Given the description of an element on the screen output the (x, y) to click on. 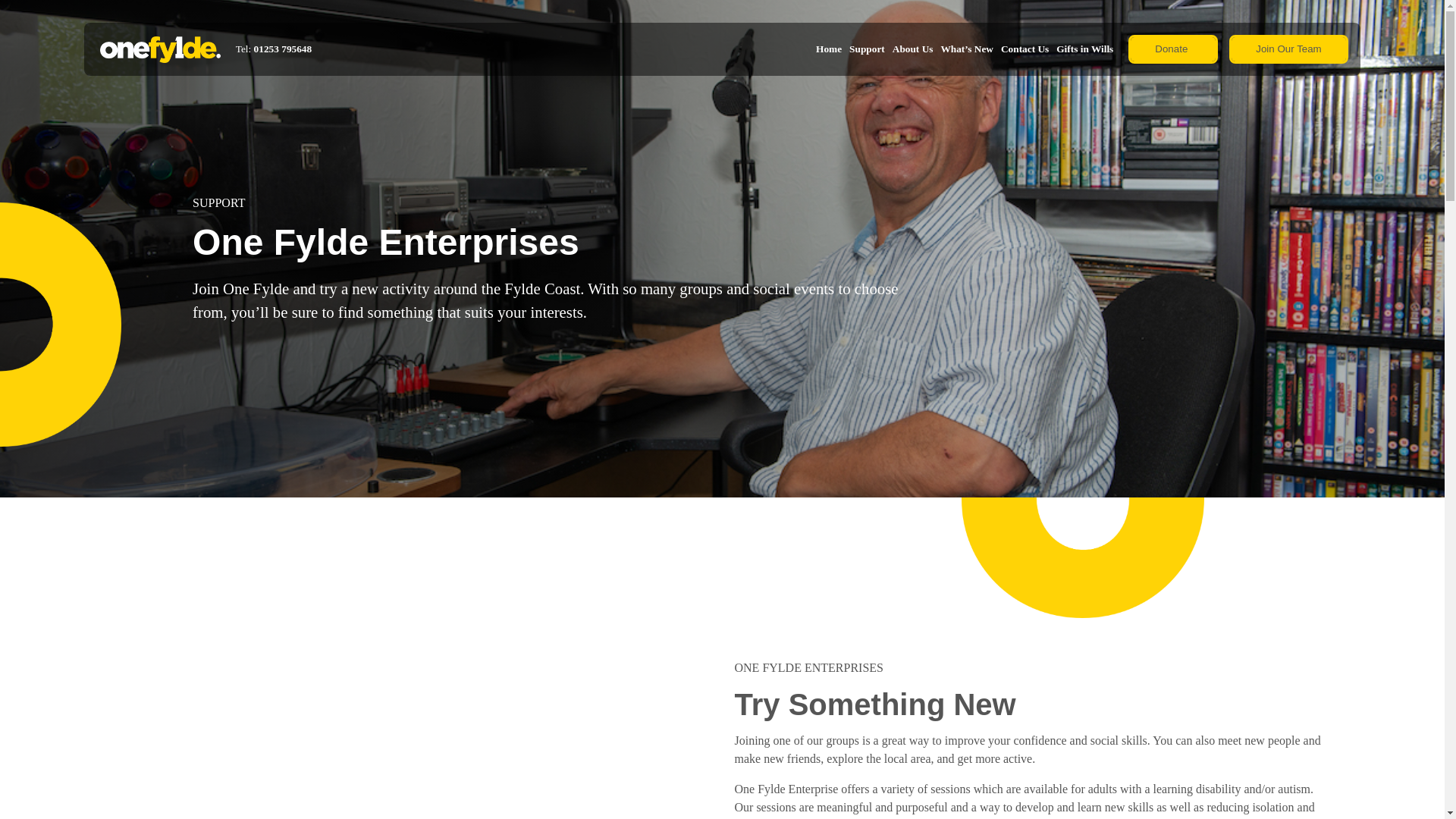
Contact Us (1024, 49)
Join Our Team (1287, 49)
Donate (1171, 49)
01253 795648 (283, 48)
Gifts in Wills (1085, 49)
